Given the description of an element on the screen output the (x, y) to click on. 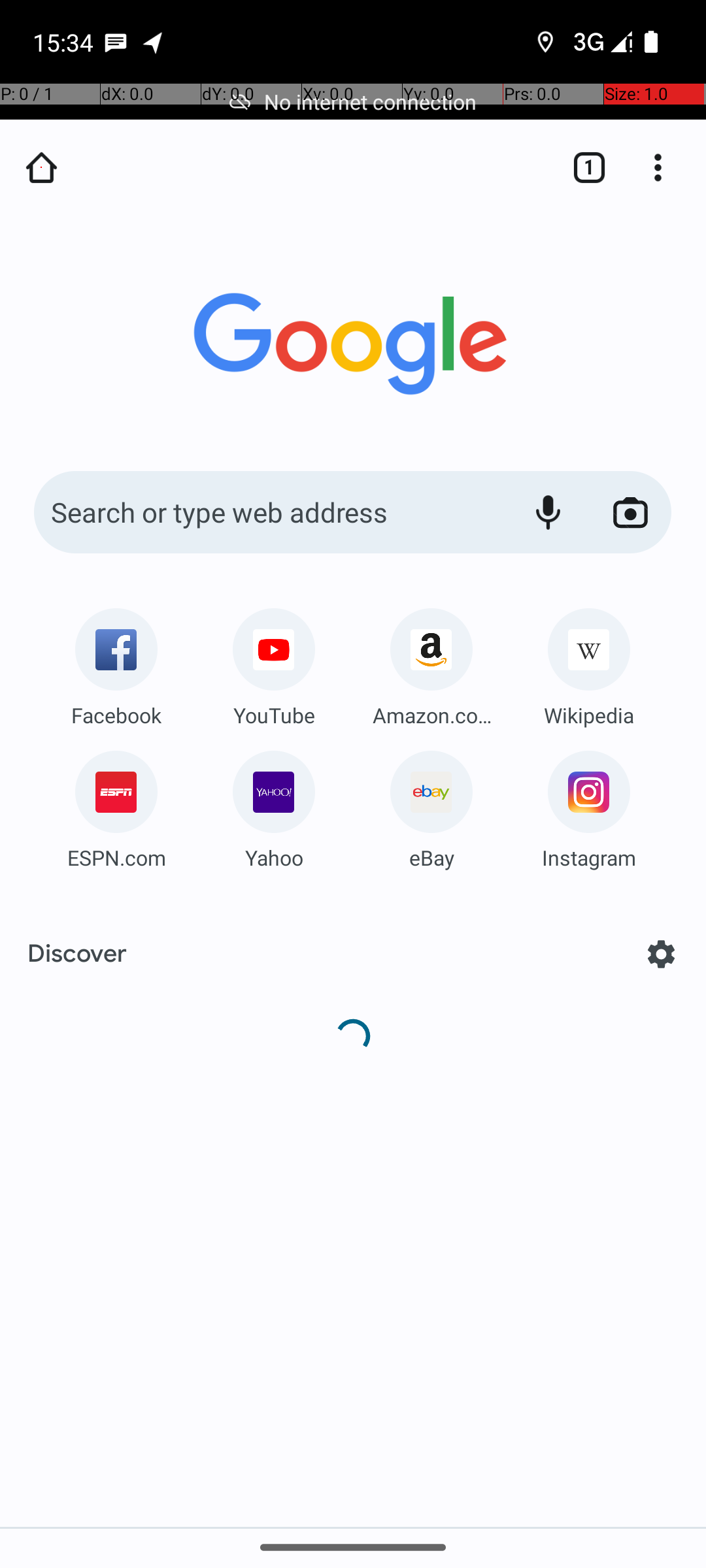
No internet connection Element type: android.widget.TextView (352, 101)
Switch or close tabs Element type: android.widget.ImageButton (582, 167)
Search or type web address Element type: android.widget.EditText (267, 512)
Start voice search Element type: android.widget.ImageView (547, 512)
Search with your camera using Google Lens Element type: android.widget.ImageView (629, 512)
Navigate: Facebook: m.facebook.com Element type: android.widget.FrameLayout (115, 662)
Navigate: YouTube: m.youtube.com Element type: android.widget.FrameLayout (273, 662)
Navigate: Amazon.com: www.amazon.com Element type: android.widget.FrameLayout (431, 662)
Navigate: Wikipedia: en.m.wikipedia.org Element type: android.widget.FrameLayout (588, 662)
Navigate: ESPN.com: www.espn.com Element type: android.widget.FrameLayout (115, 804)
Navigate: Yahoo: www.yahoo.com Element type: android.widget.FrameLayout (273, 804)
Navigate: eBay: m.ebay.com Element type: android.widget.FrameLayout (431, 804)
Navigate: Instagram: www.instagram.com Element type: android.widget.FrameLayout (588, 804)
Discover Element type: android.widget.TextView (76, 953)
Options for Discover Element type: android.widget.ImageButton (660, 953)
Facebook Element type: android.widget.TextView (115, 715)
Amazon.com Element type: android.widget.TextView (430, 715)
Wikipedia Element type: android.widget.TextView (588, 715)
ESPN.com Element type: android.widget.TextView (115, 857)
Yahoo Element type: android.widget.TextView (273, 857)
eBay Element type: android.widget.TextView (430, 857)
Instagram Element type: android.widget.TextView (588, 857)
